Given the description of an element on the screen output the (x, y) to click on. 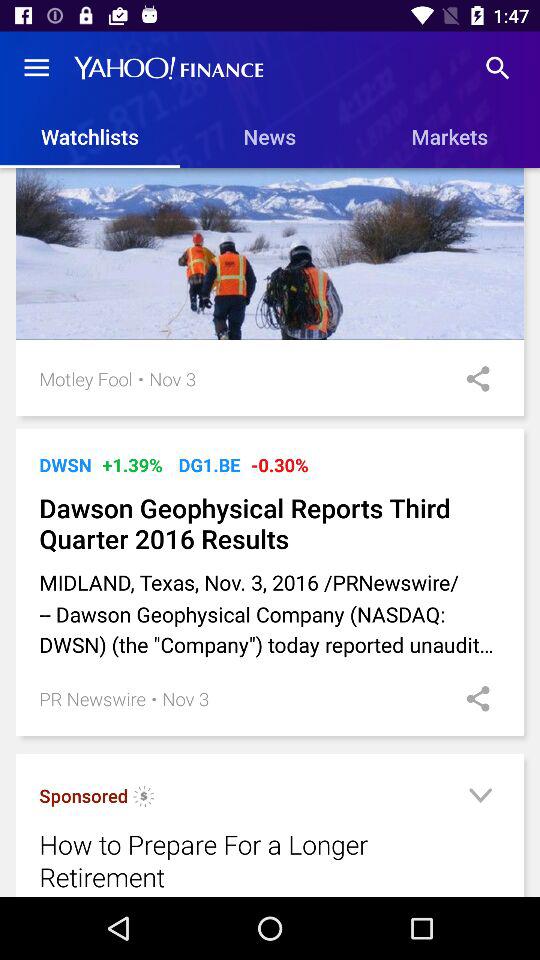
sponsored (143, 798)
